Given the description of an element on the screen output the (x, y) to click on. 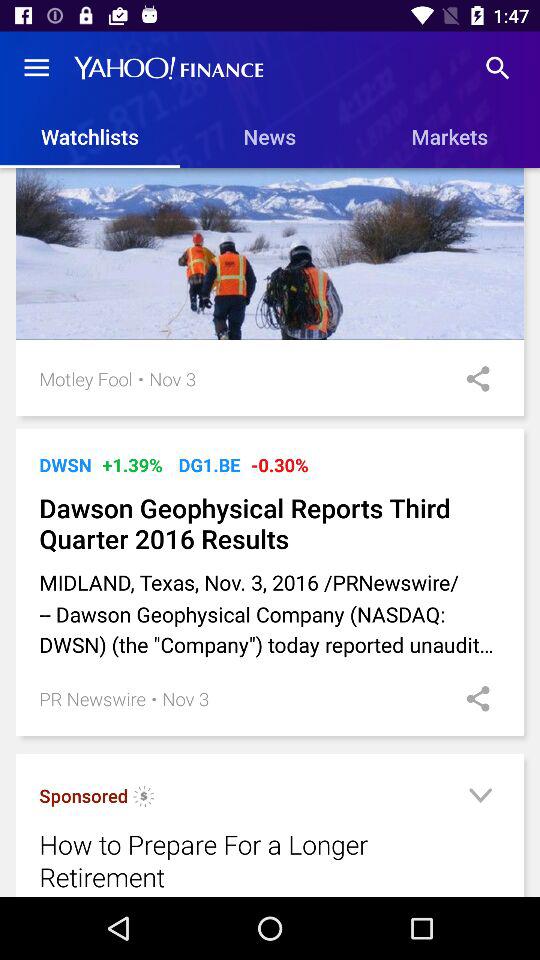
sponsored (143, 798)
